Given the description of an element on the screen output the (x, y) to click on. 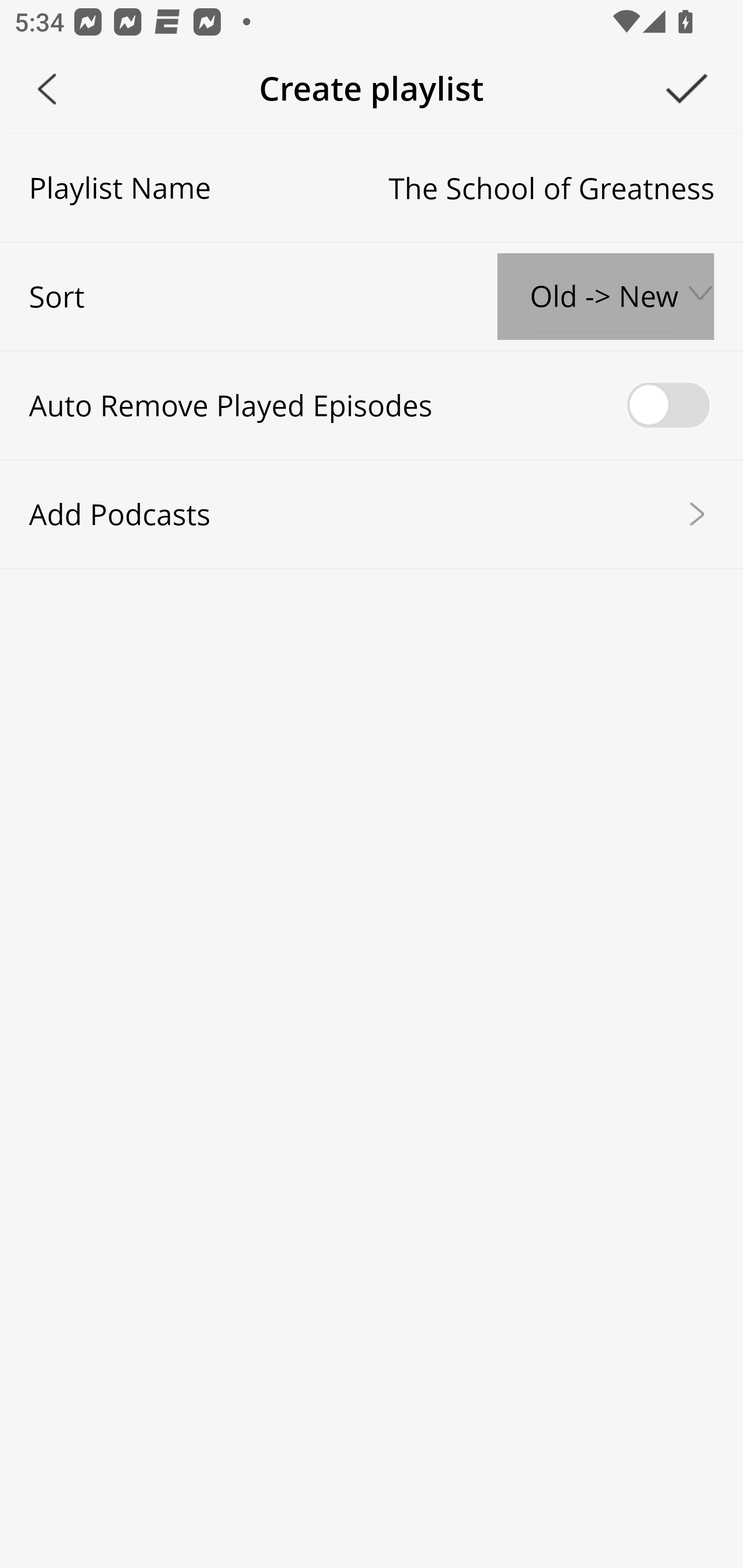
Back (46, 88)
The School of Greatness (462, 187)
Old -> New (605, 297)
Add Podcasts (371, 513)
